Given the description of an element on the screen output the (x, y) to click on. 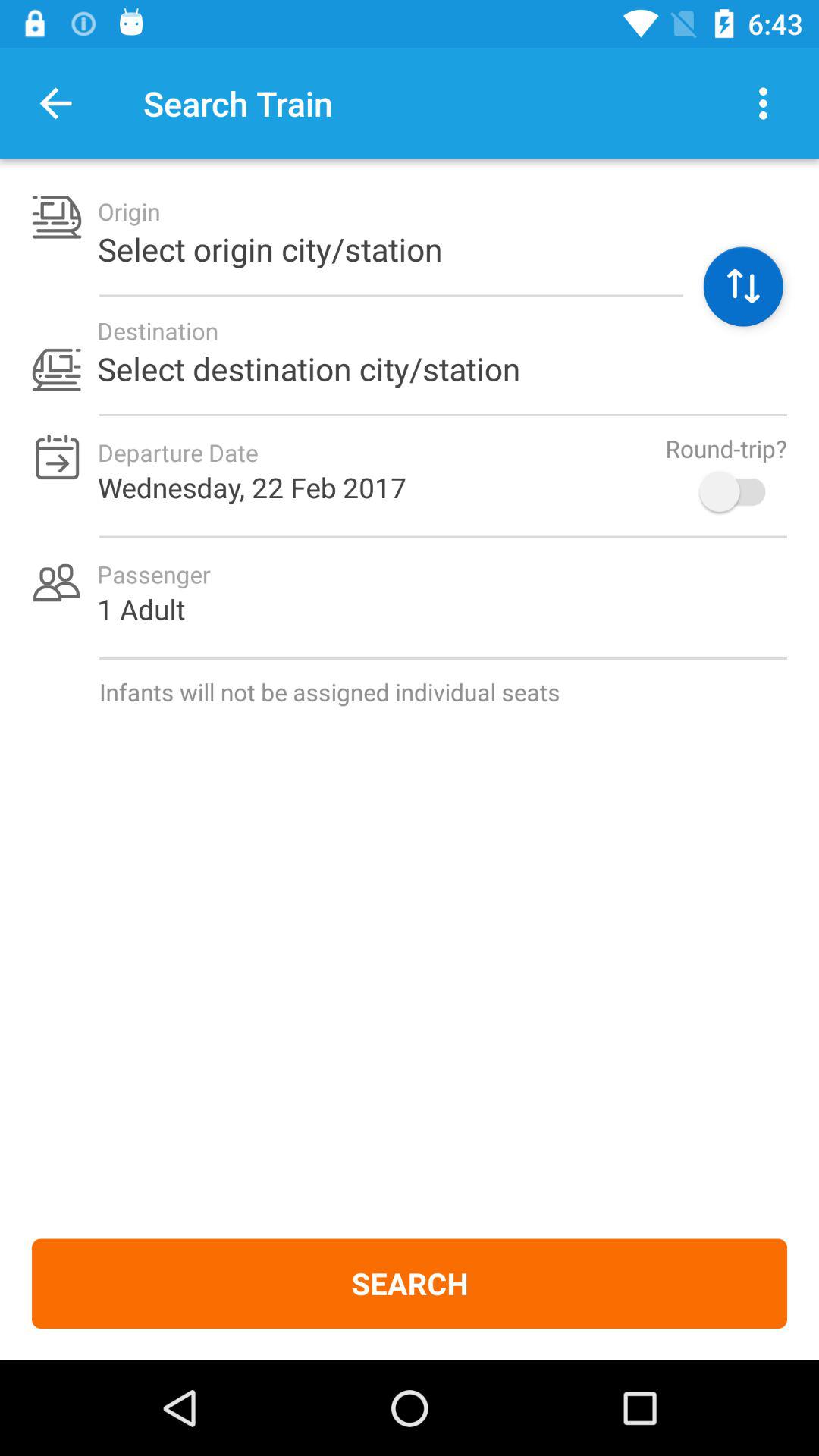
turn on the item next to the search train icon (763, 103)
